Given the description of an element on the screen output the (x, y) to click on. 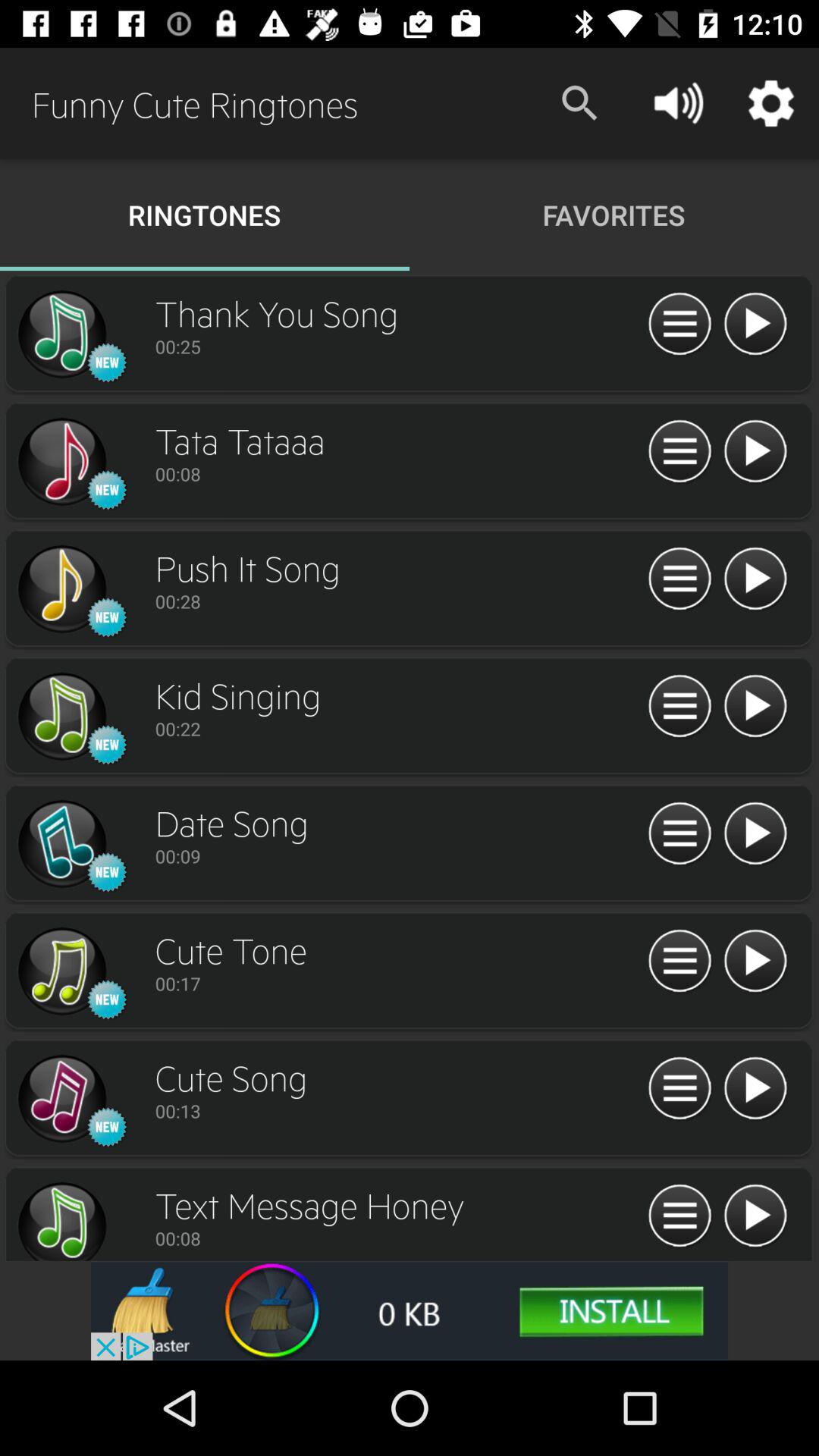
execute the track (755, 1216)
